Given the description of an element on the screen output the (x, y) to click on. 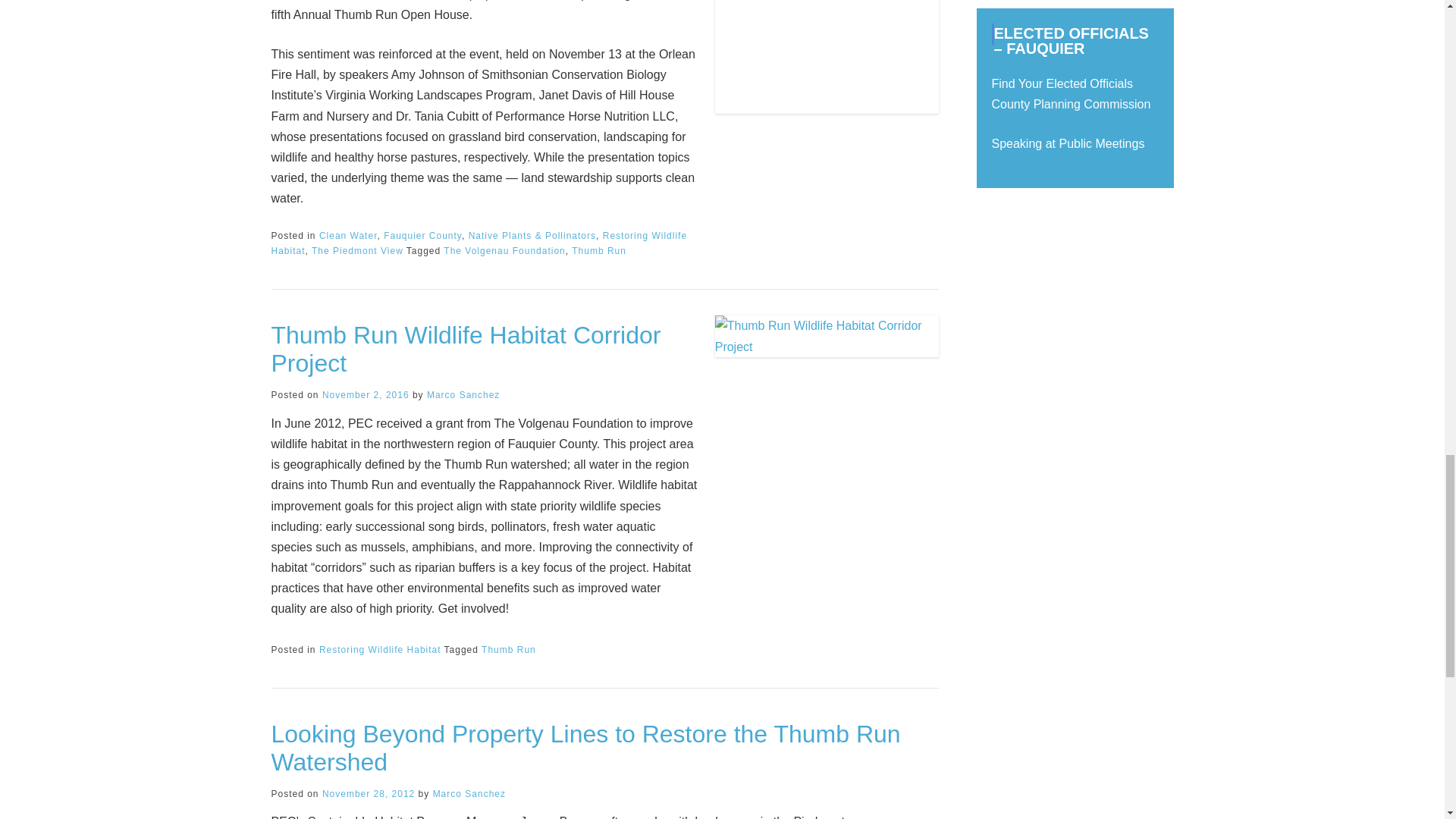
Speaking at Public Hearings (1067, 143)
